Given the description of an element on the screen output the (x, y) to click on. 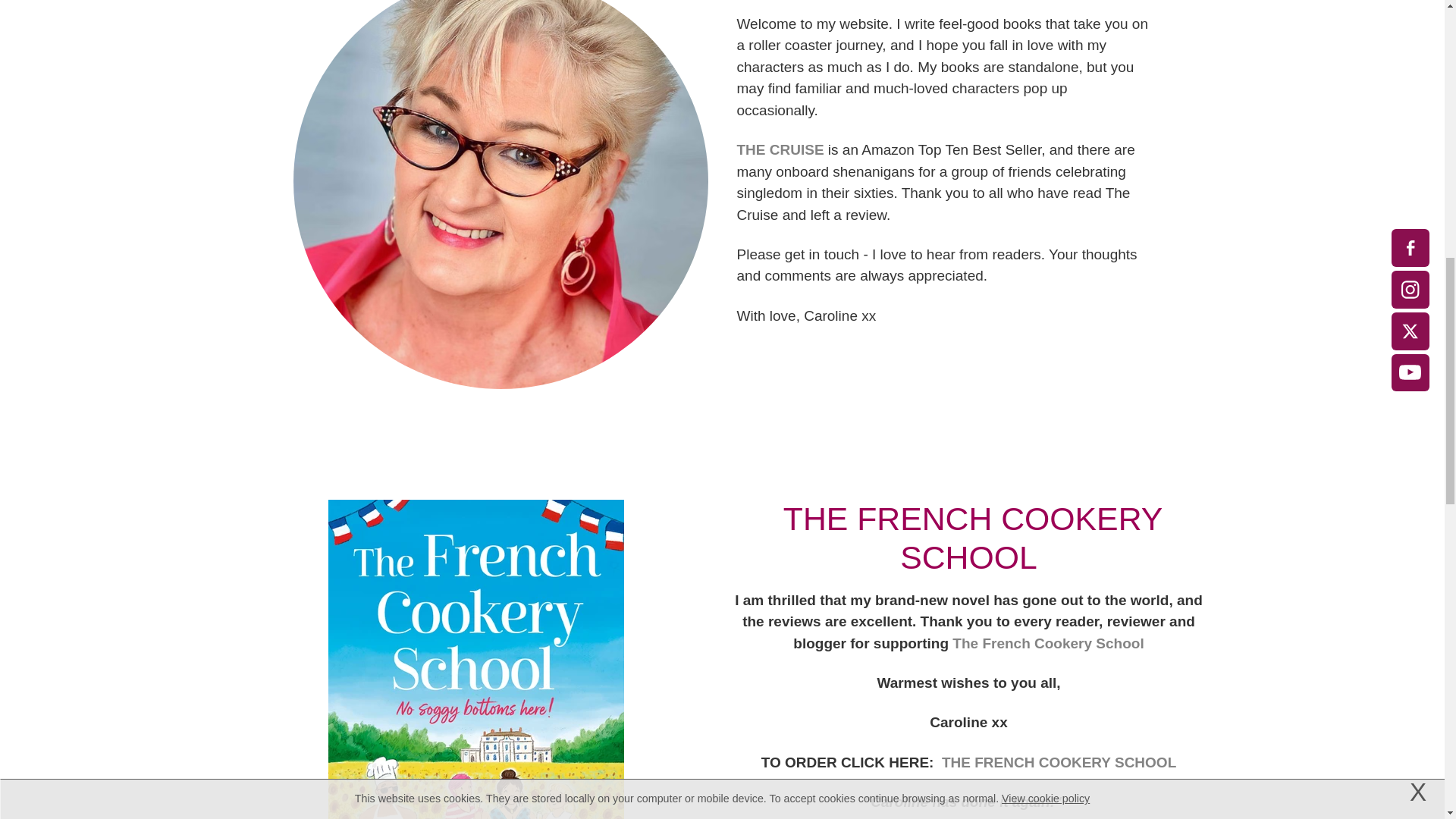
THE CRUISE (780, 149)
The French Cookery School (1047, 643)
THE FRENCH COOKERY SCHOOL (1059, 762)
